Given the description of an element on the screen output the (x, y) to click on. 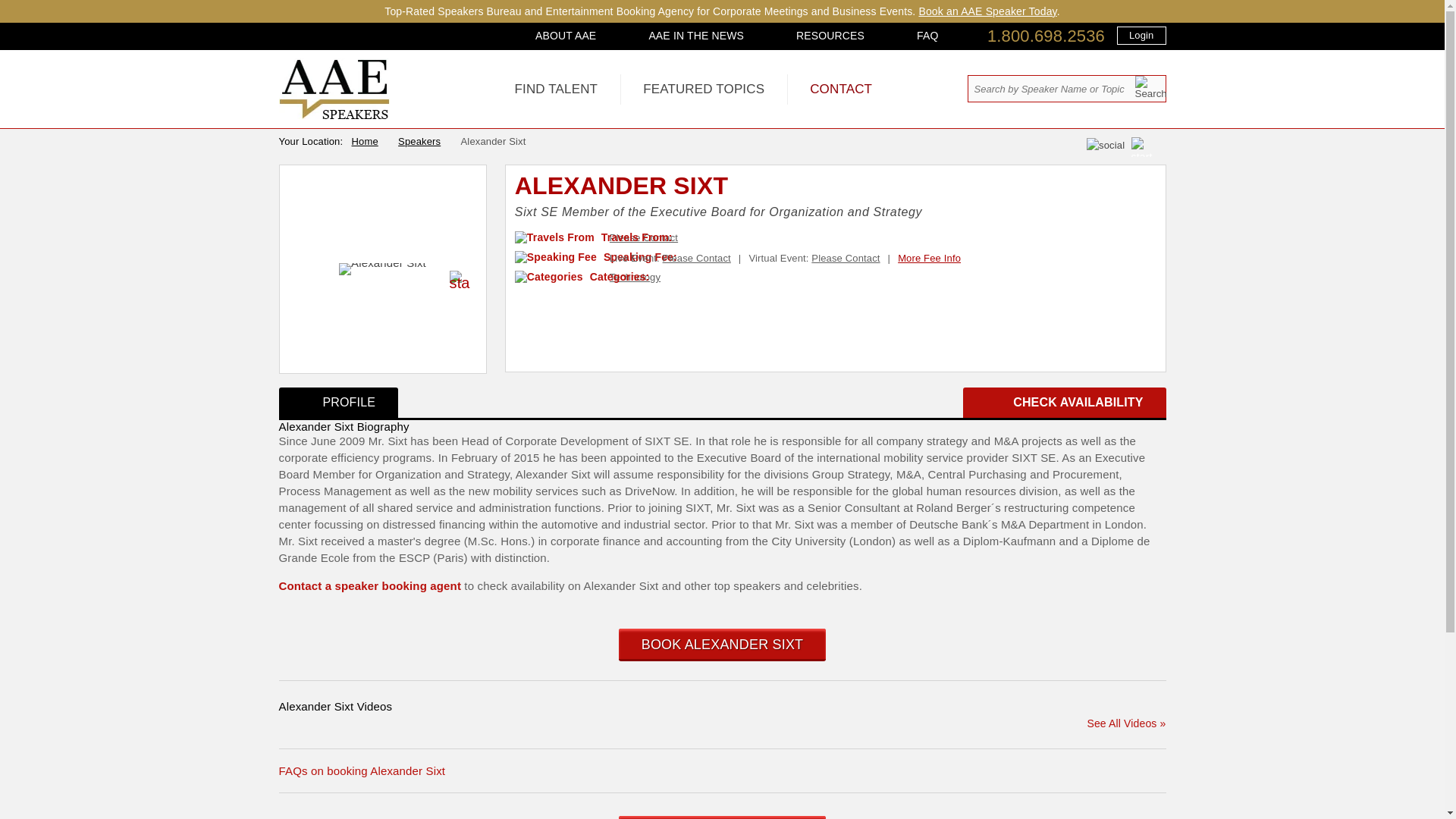
1.800.698.2536 (1046, 35)
All American Speakers Bureau and Celebrity Booking Agency (334, 115)
Login (1141, 35)
AAE IN THE NEWS (695, 34)
Book an AAE Speaker Today (987, 10)
Search (1150, 87)
RESOURCES (829, 34)
FAQ (927, 34)
ABOUT AAE (565, 34)
